Given the description of an element on the screen output the (x, y) to click on. 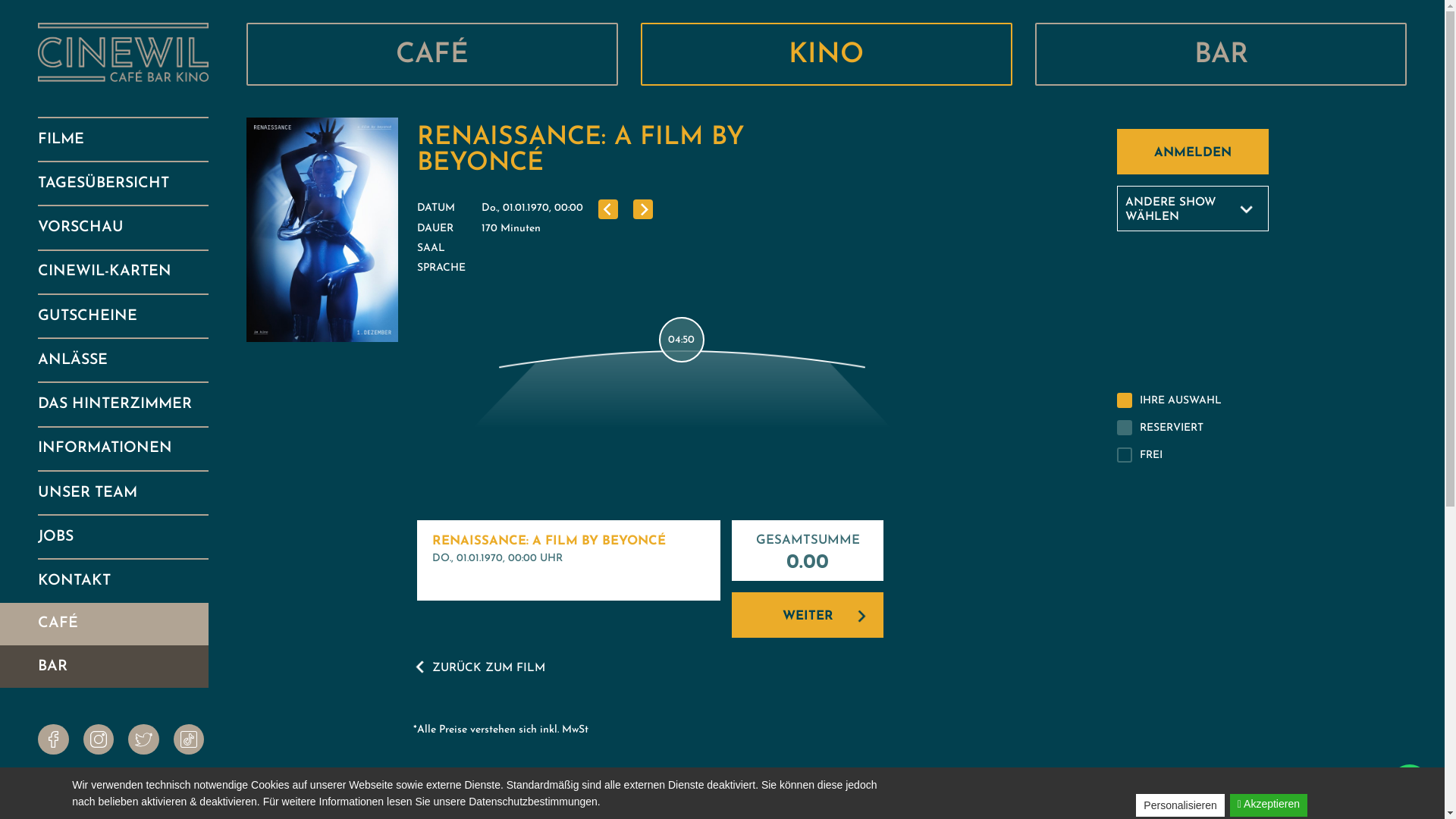
< Element type: text (608, 209)
UNSER TEAM Element type: text (122, 492)
GUTSCHEINE Element type: text (122, 315)
VORSCHAU Element type: text (122, 227)
INFORMATIONEN Element type: text (122, 448)
DAS HINTERZIMMER Element type: text (122, 403)
KONTAKT Element type: text (122, 580)
JOBS Element type: text (122, 536)
ANMELDEN Element type: text (1191, 151)
Personalisieren Element type: text (1179, 804)
BAR Element type: text (122, 666)
WEITER Element type: text (807, 614)
FILME Element type: text (122, 139)
> Element type: text (642, 209)
CINEWIL-KARTEN Element type: text (122, 272)
